Given the description of an element on the screen output the (x, y) to click on. 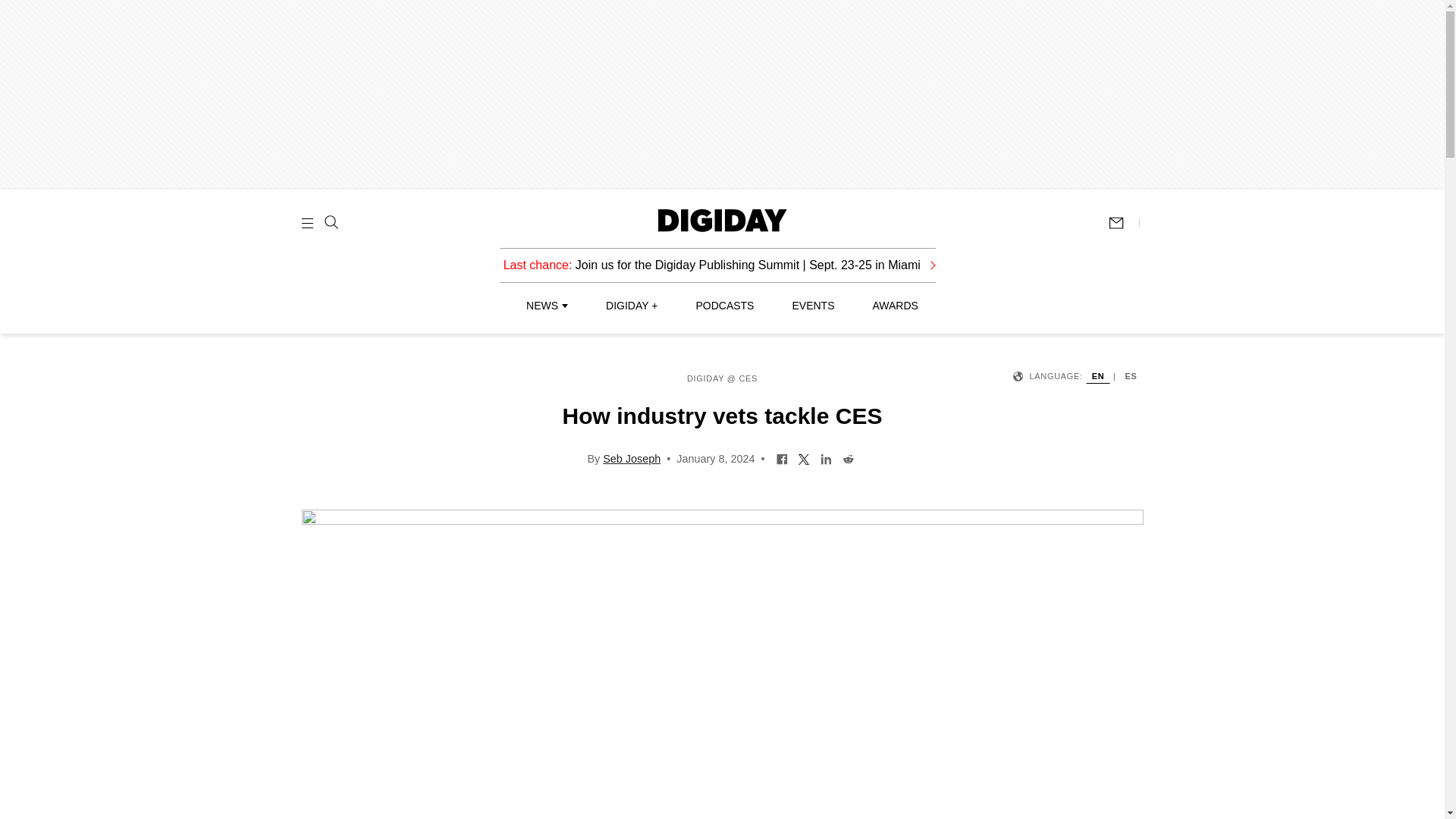
Subscribe (1123, 223)
PODCASTS (725, 305)
Share on Reddit (847, 458)
EVENTS (813, 305)
AWARDS (894, 305)
Share on Facebook (782, 458)
Share on LinkedIn (825, 458)
NEWS (546, 305)
Share on Twitter (803, 458)
